Given the description of an element on the screen output the (x, y) to click on. 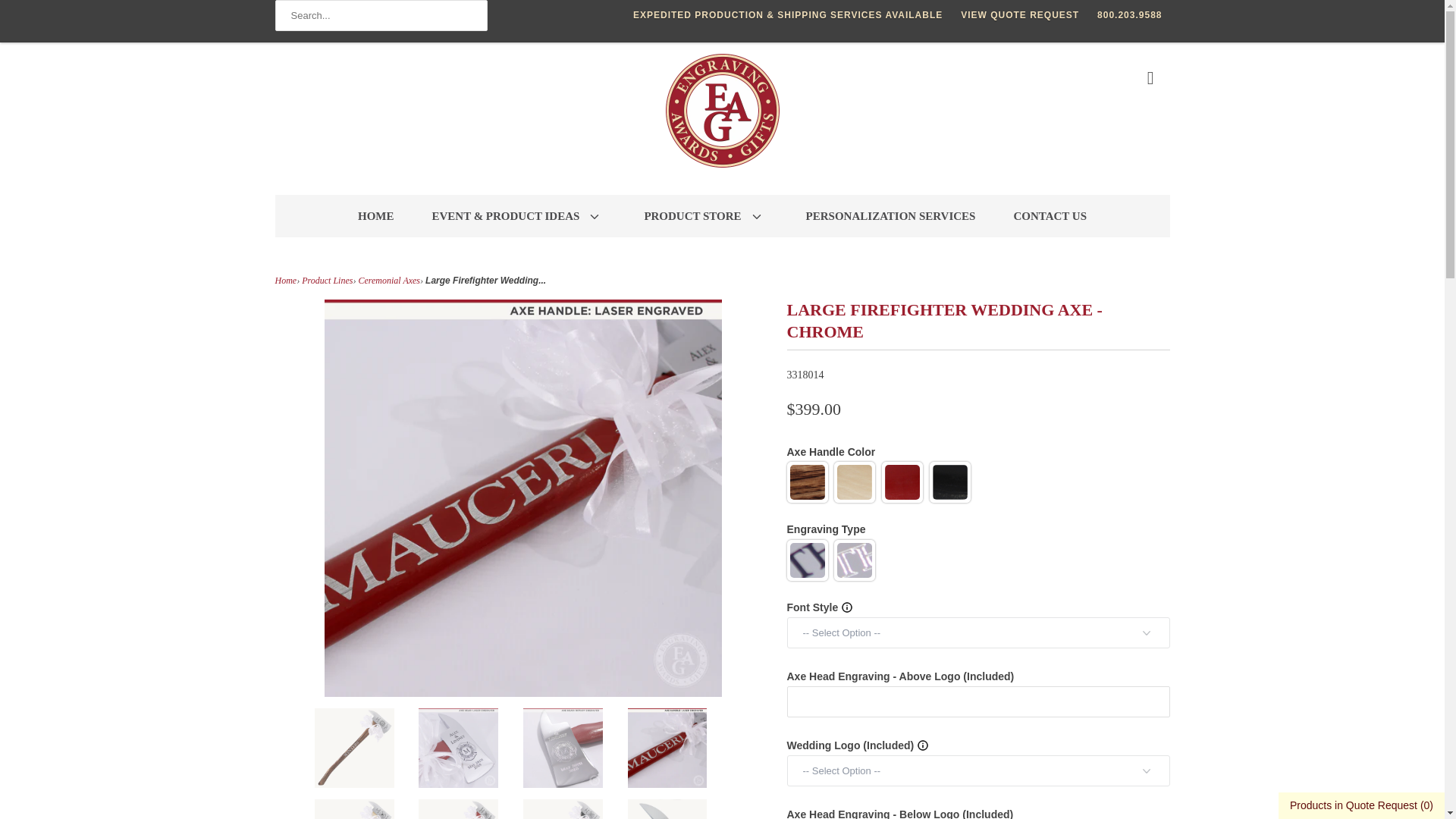
CONTACT US (1049, 215)
HOME (376, 215)
Product Lines (326, 280)
CONTACT US (1049, 215)
Ceremonial Axes (389, 280)
Ceremonial Axes (389, 280)
PERSONALIZATION SERVICES (890, 215)
800.203.9588 (1129, 15)
PRODUCT STORE (705, 215)
PERSONALIZATION SERVICES (890, 215)
PRODUCT STORE (705, 215)
VIEW QUOTE REQUEST (1019, 15)
Product Lines (326, 280)
Home (286, 280)
